Given the description of an element on the screen output the (x, y) to click on. 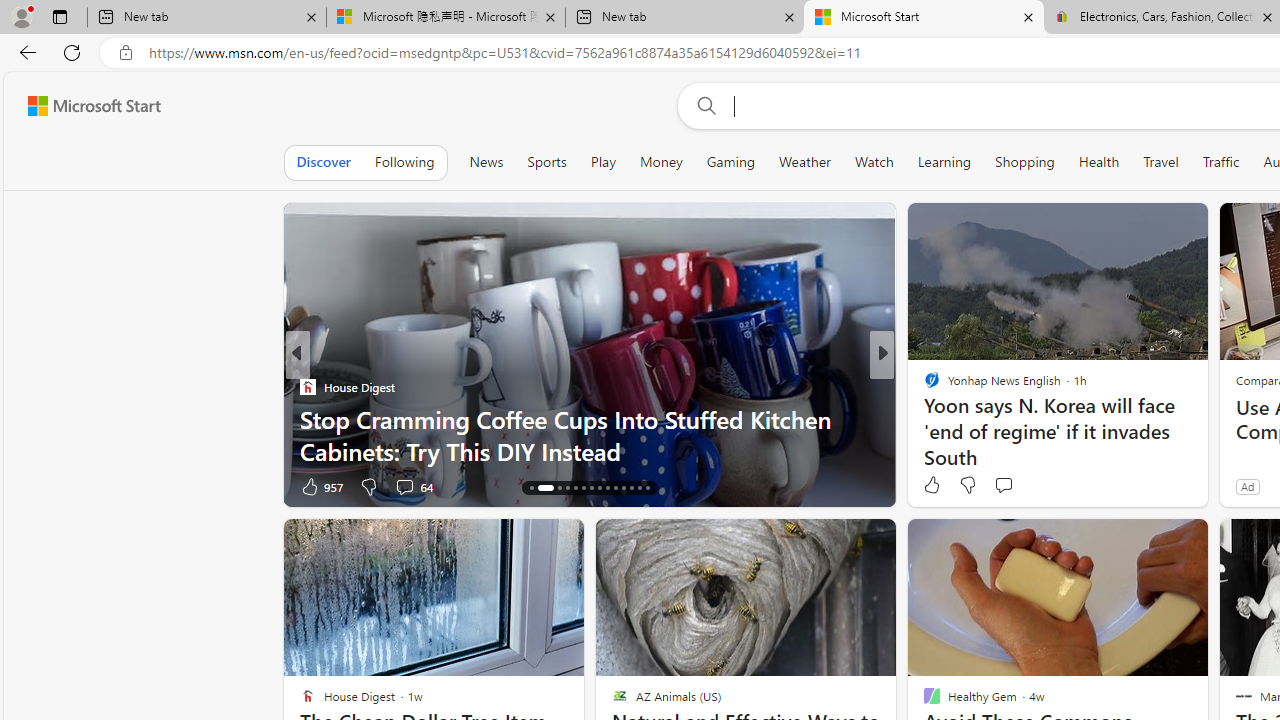
AutomationID: tab-21 (591, 487)
View comments 141 Comment (1019, 485)
View comments 141 Comment (1032, 486)
View comments 64 Comment (404, 485)
AutomationID: tab-26 (631, 487)
AutomationID: tab-28 (646, 487)
Simply Recipes (923, 386)
